Given the description of an element on the screen output the (x, y) to click on. 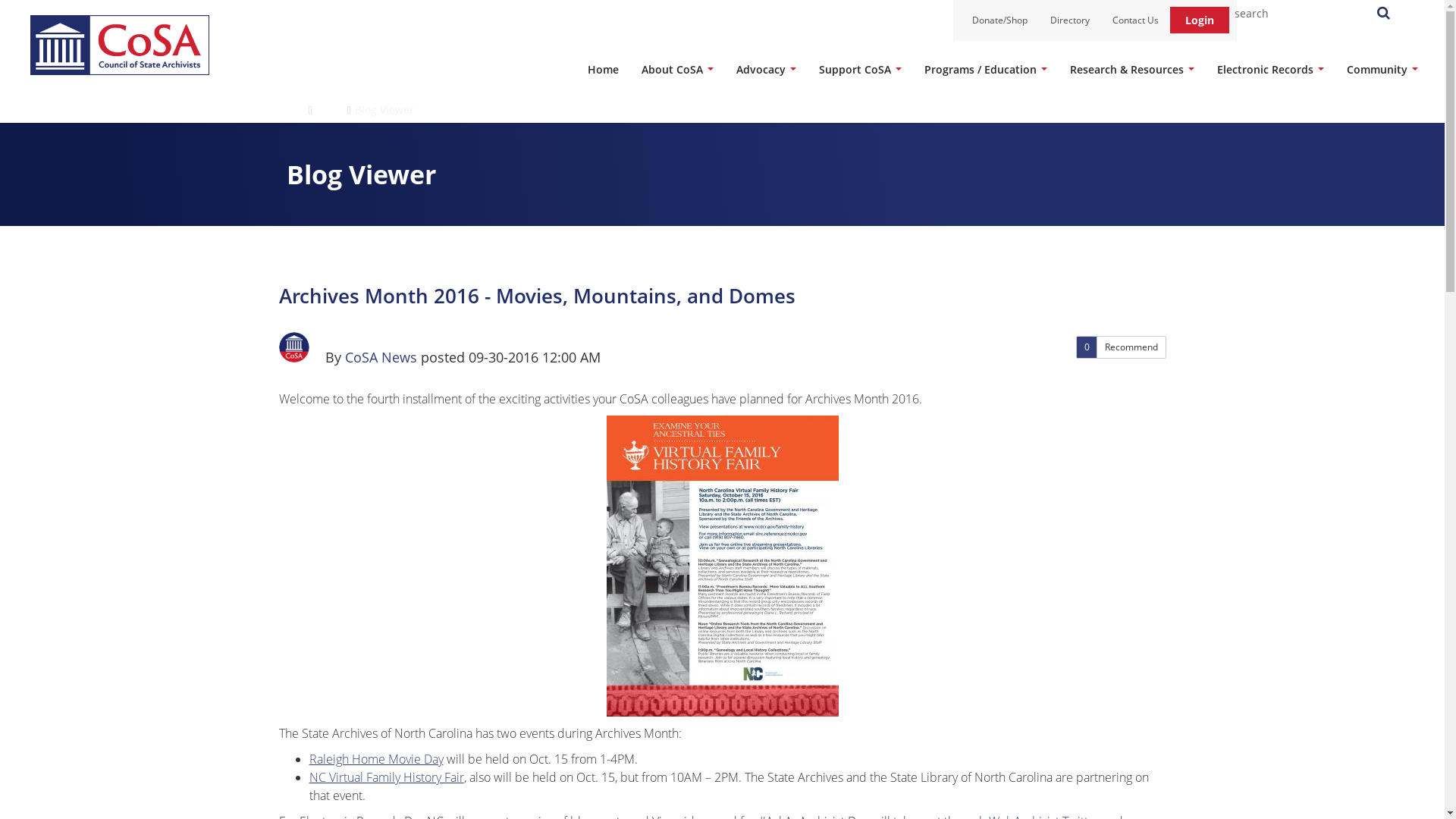
Home (603, 69)
search (1298, 12)
Directory (1069, 20)
Nbr of recommenders (1086, 346)
Recommend this item. (1131, 346)
Contact Us (1135, 20)
CoSA News (293, 347)
Support CoSA (860, 69)
Login (1199, 19)
About CoSA (677, 69)
Blogs (329, 109)
Browse (285, 109)
How to get in contact with us (1135, 20)
Advocacy (766, 69)
Blog Viewer (384, 109)
